Given the description of an element on the screen output the (x, y) to click on. 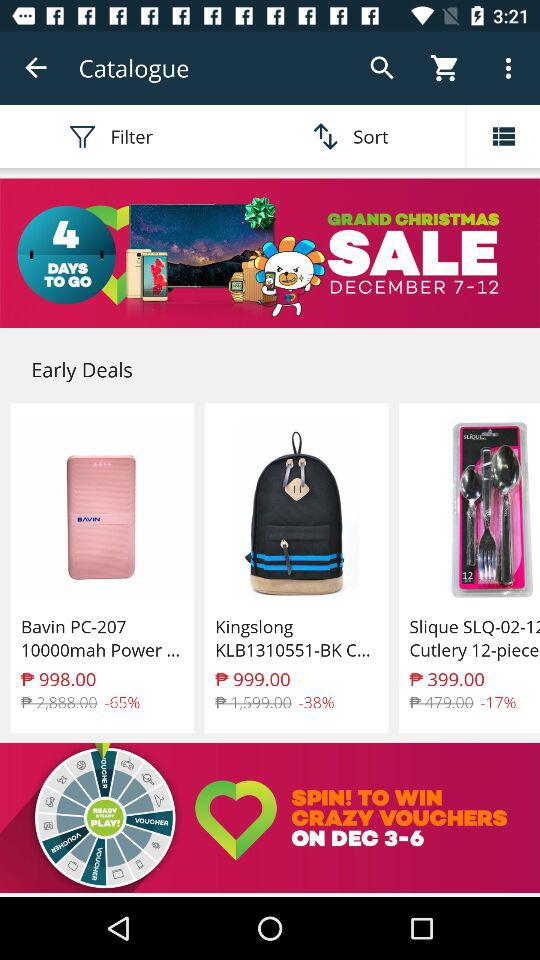
spin a wheel on lazada to earn a voucher (270, 817)
